Given the description of an element on the screen output the (x, y) to click on. 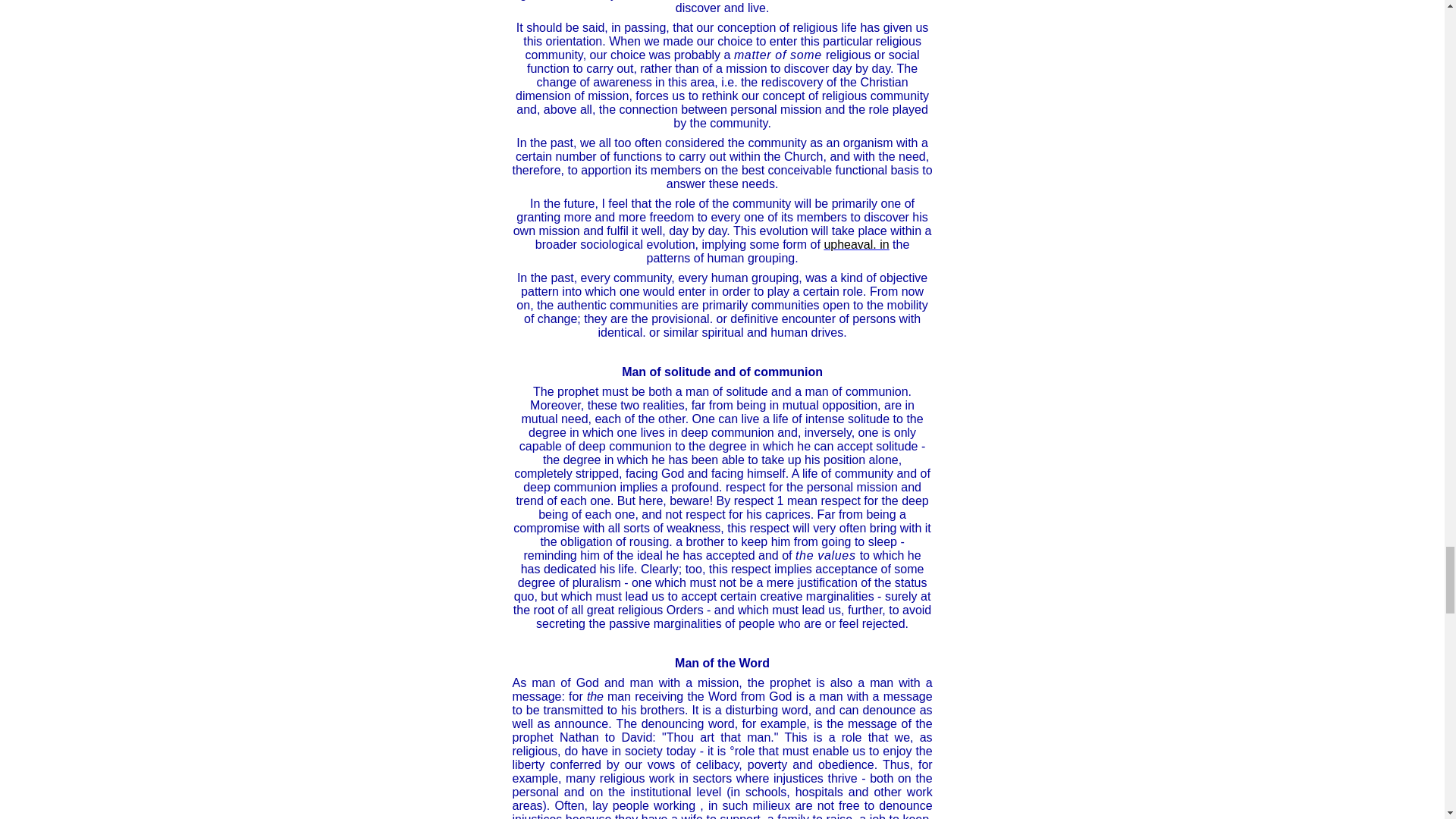
upheaval. in (856, 244)
